Given the description of an element on the screen output the (x, y) to click on. 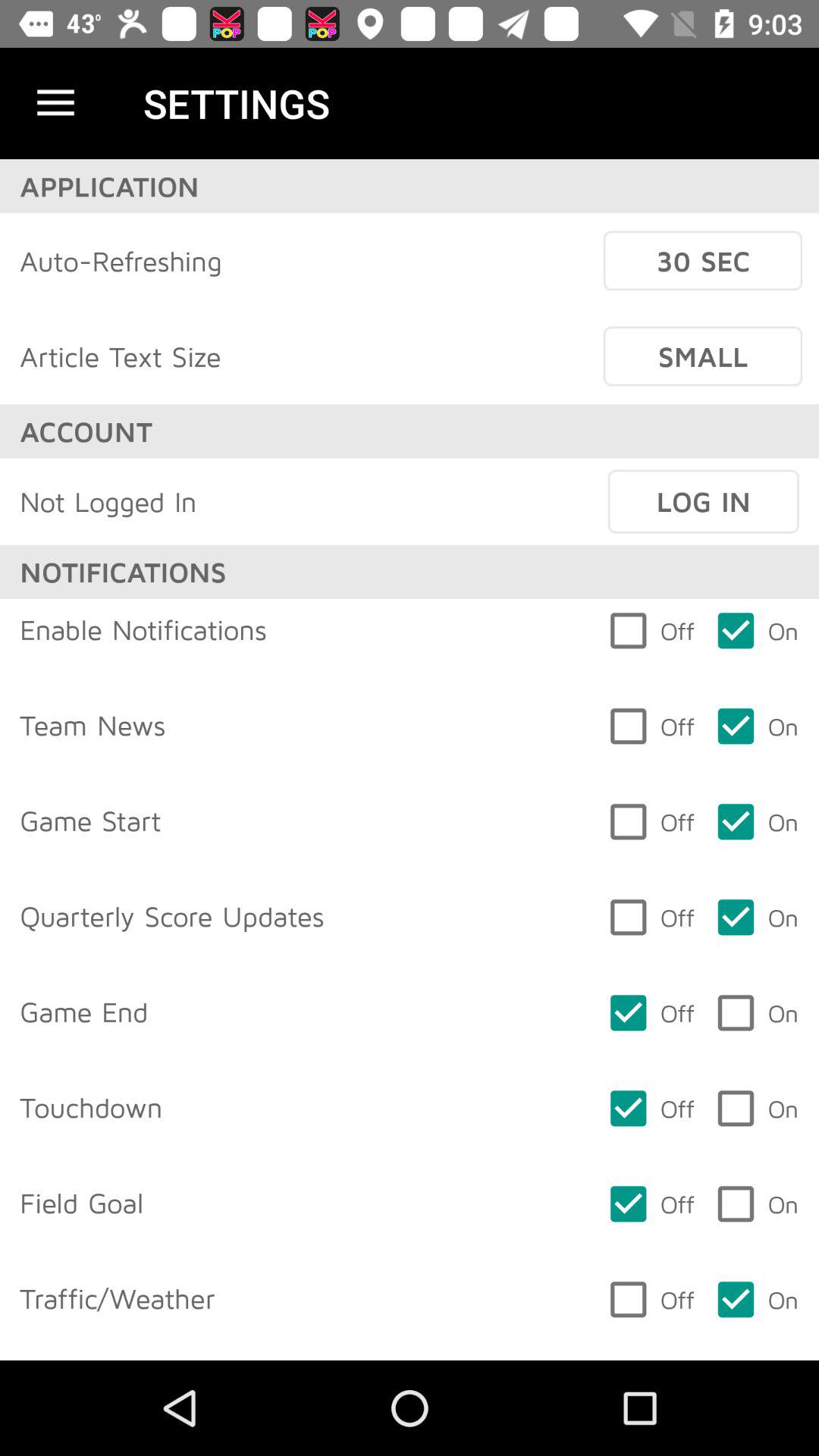
select off option next to touchdown (650, 1108)
click on the third green button from notifications (756, 821)
click on the first off check box from top (650, 1013)
click on the first on check box from bottom (756, 1300)
click on icon on the right side of game start (650, 821)
click on small below 30 sec (702, 355)
